Given the description of an element on the screen output the (x, y) to click on. 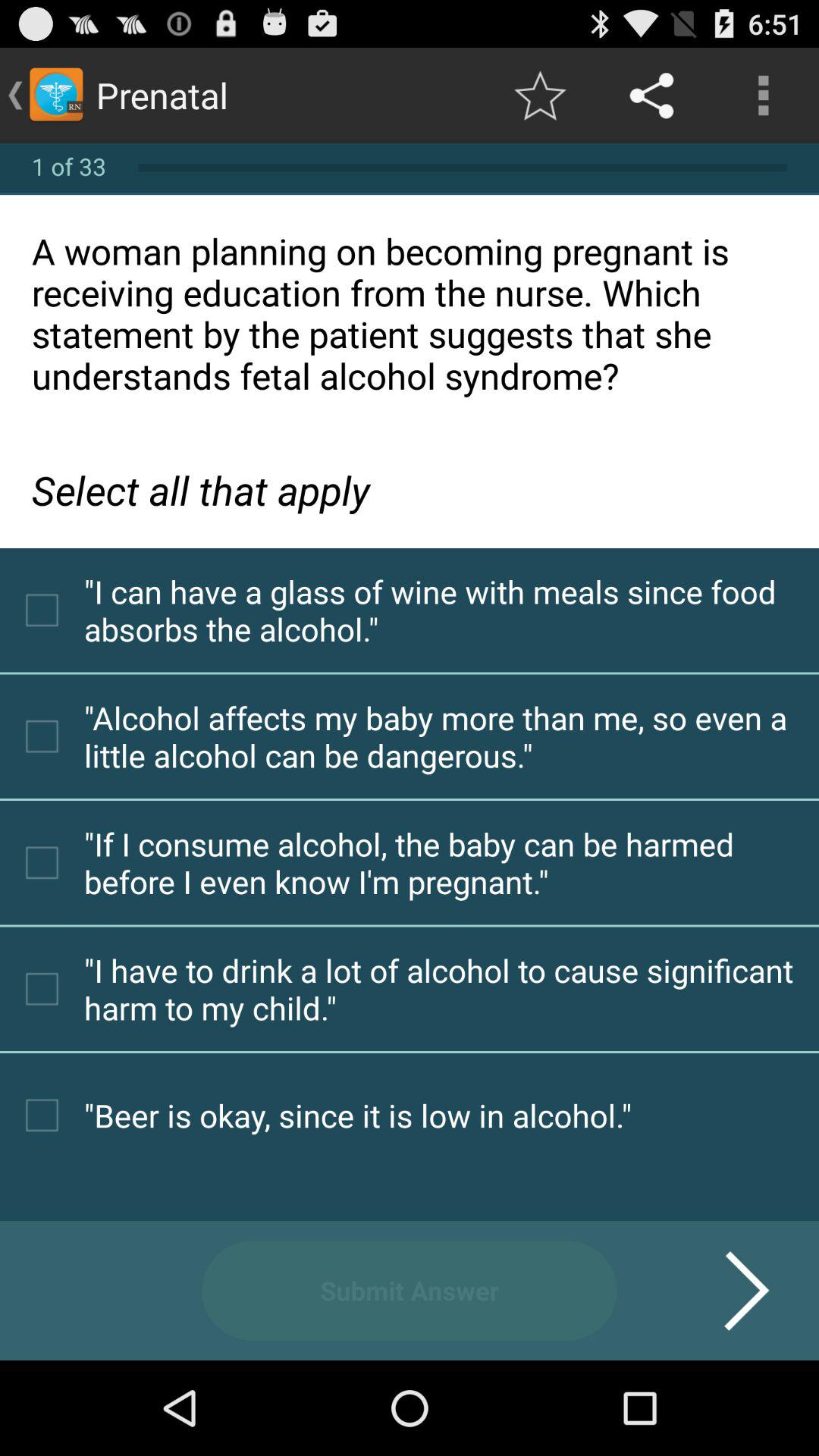
choose the submit answer item (409, 1290)
